Given the description of an element on the screen output the (x, y) to click on. 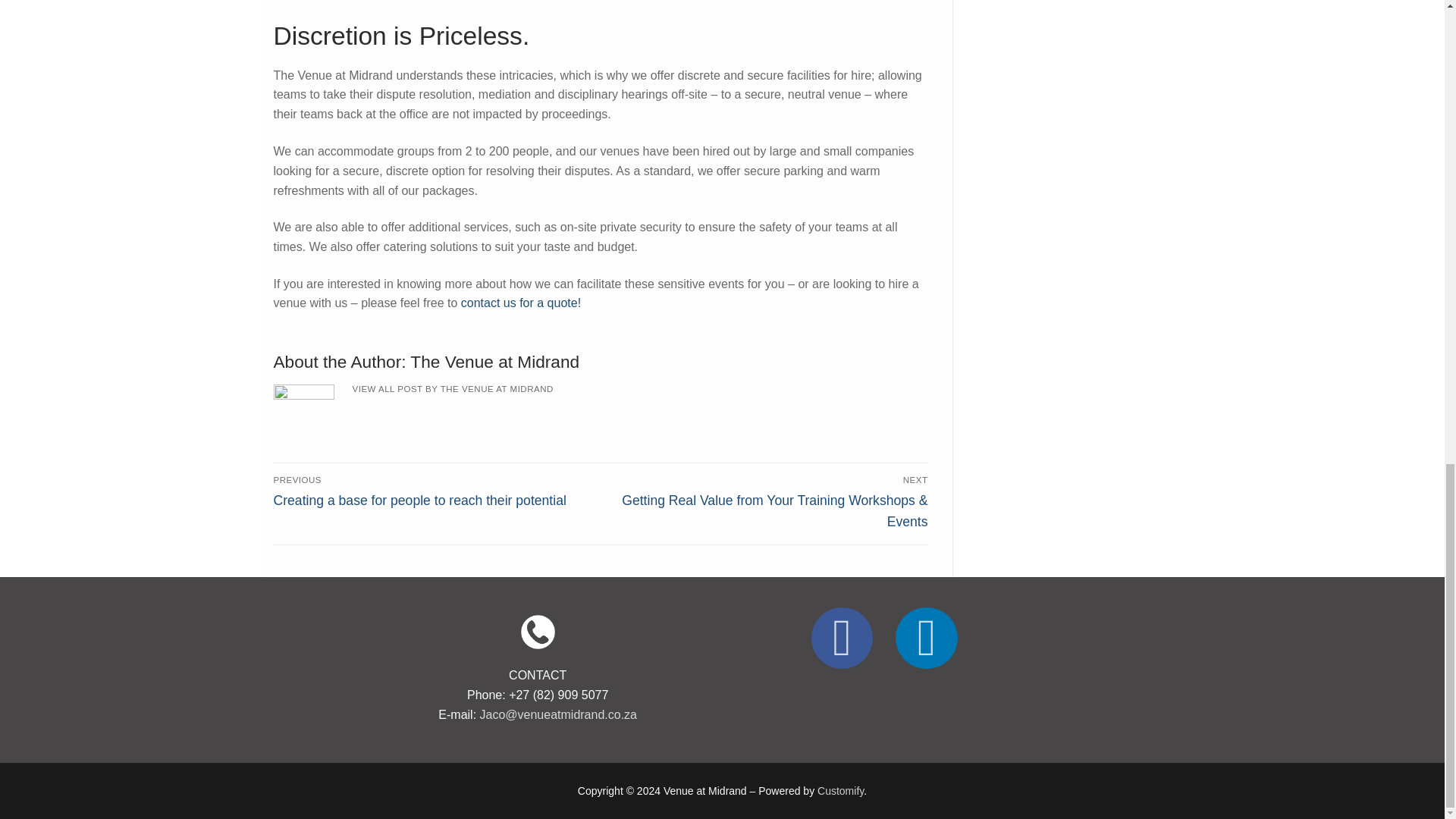
LinkedIn (926, 637)
contact us for a quote! (520, 302)
Customify (839, 790)
Facebook (841, 637)
VIEW ALL POST BY THE VENUE AT MIDRAND (452, 388)
